Given the description of an element on the screen output the (x, y) to click on. 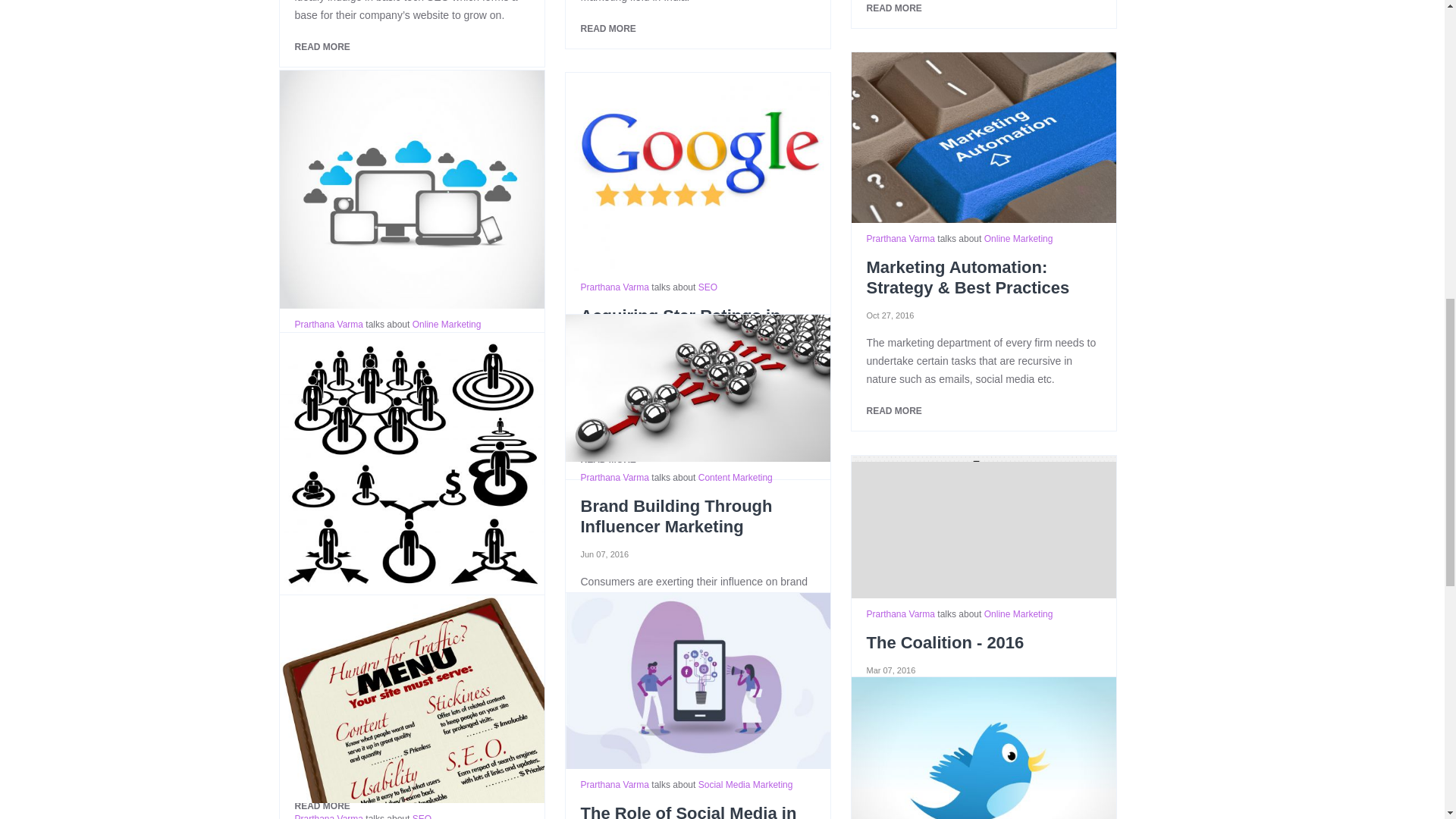
A New Chapter In Content Marketing: Influencer Marketing (411, 464)
Tips for Trending on Twitter (982, 748)
Brand Building Through Influencer Marketing (697, 387)
The Coalition - 2016 (982, 526)
The Role of Social Media in Promoting CSR Campaigns (697, 680)
Acquiring Star Ratings in Organic Search Results (697, 171)
How to Grow Organic Traffic to your Website from Day Zero? (411, 699)
